Given the description of an element on the screen output the (x, y) to click on. 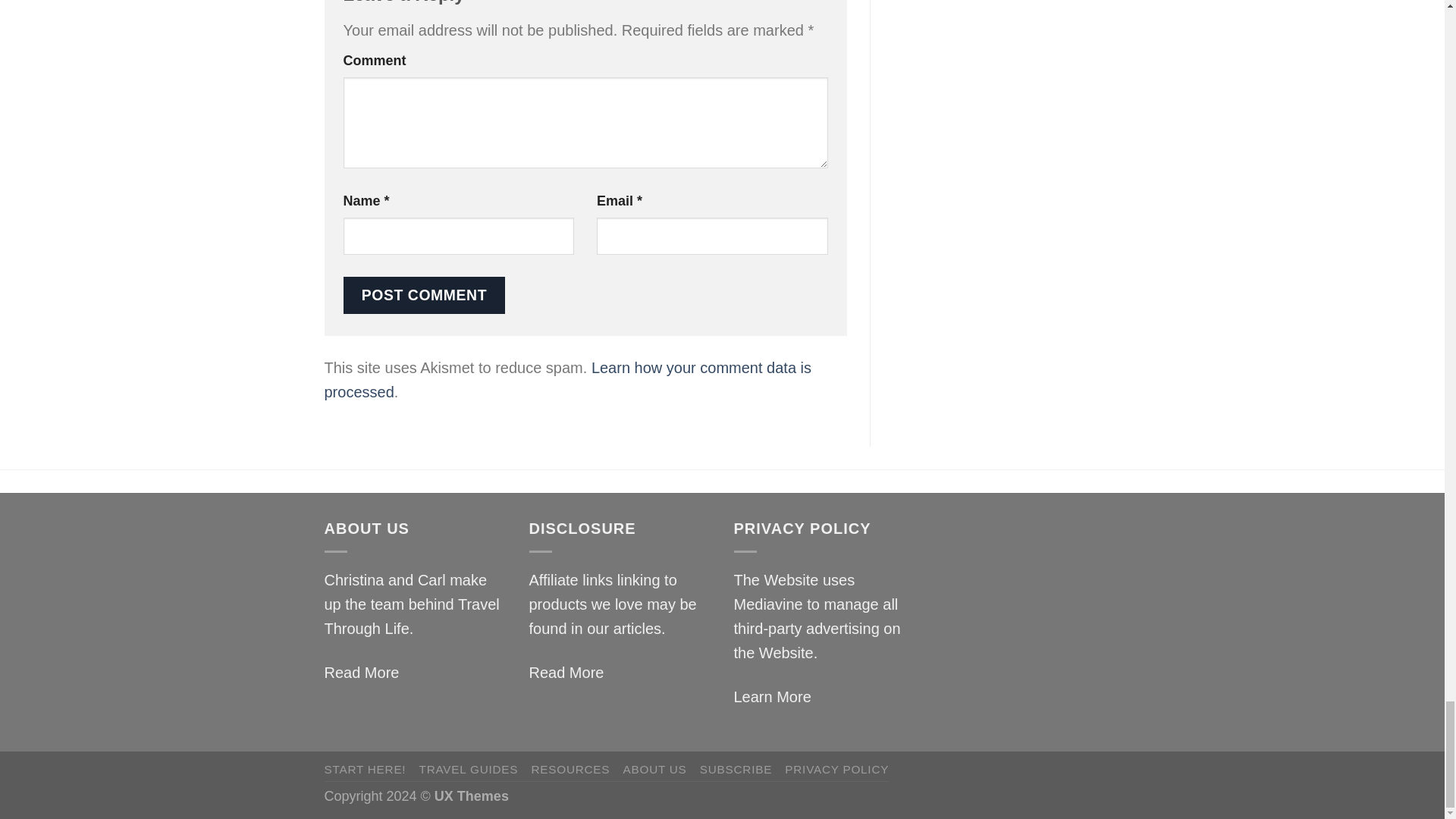
Post Comment (423, 294)
